Given the description of an element on the screen output the (x, y) to click on. 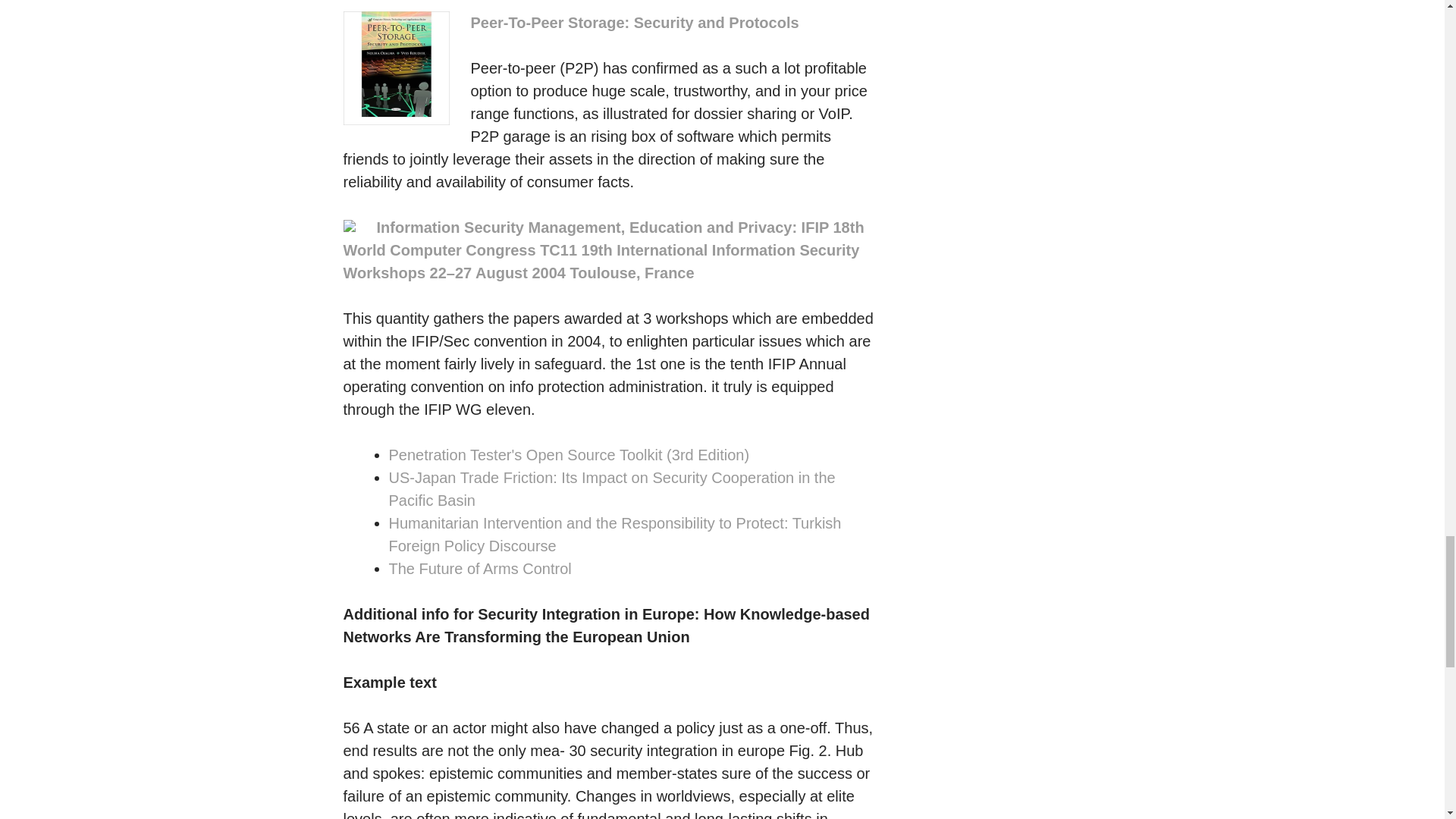
The Future of Arms Control (479, 568)
Peer-To-Peer Storage: Security and Protocols (633, 22)
